Given the description of an element on the screen output the (x, y) to click on. 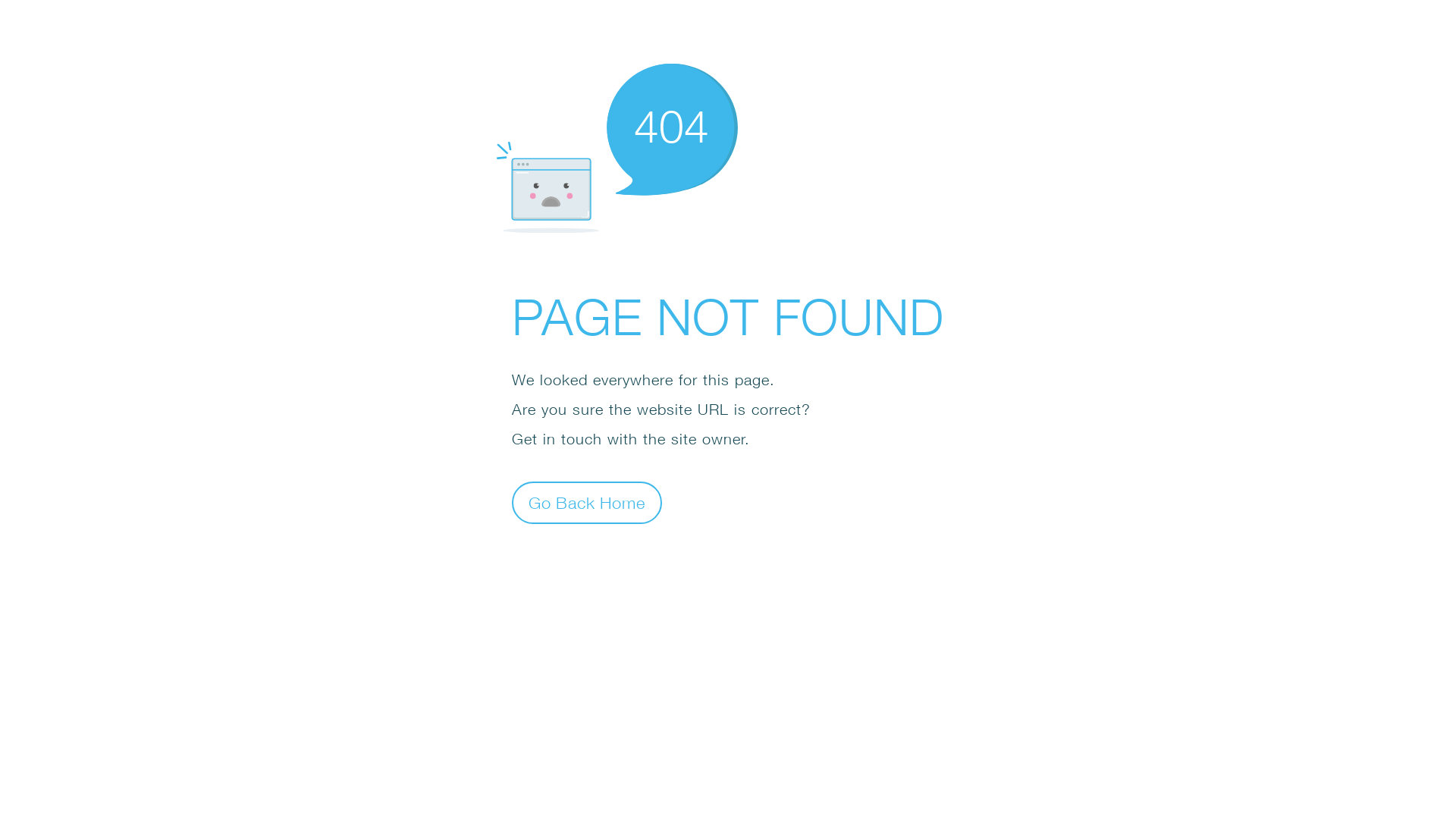
Go Back Home Element type: text (586, 502)
